Given the description of an element on the screen output the (x, y) to click on. 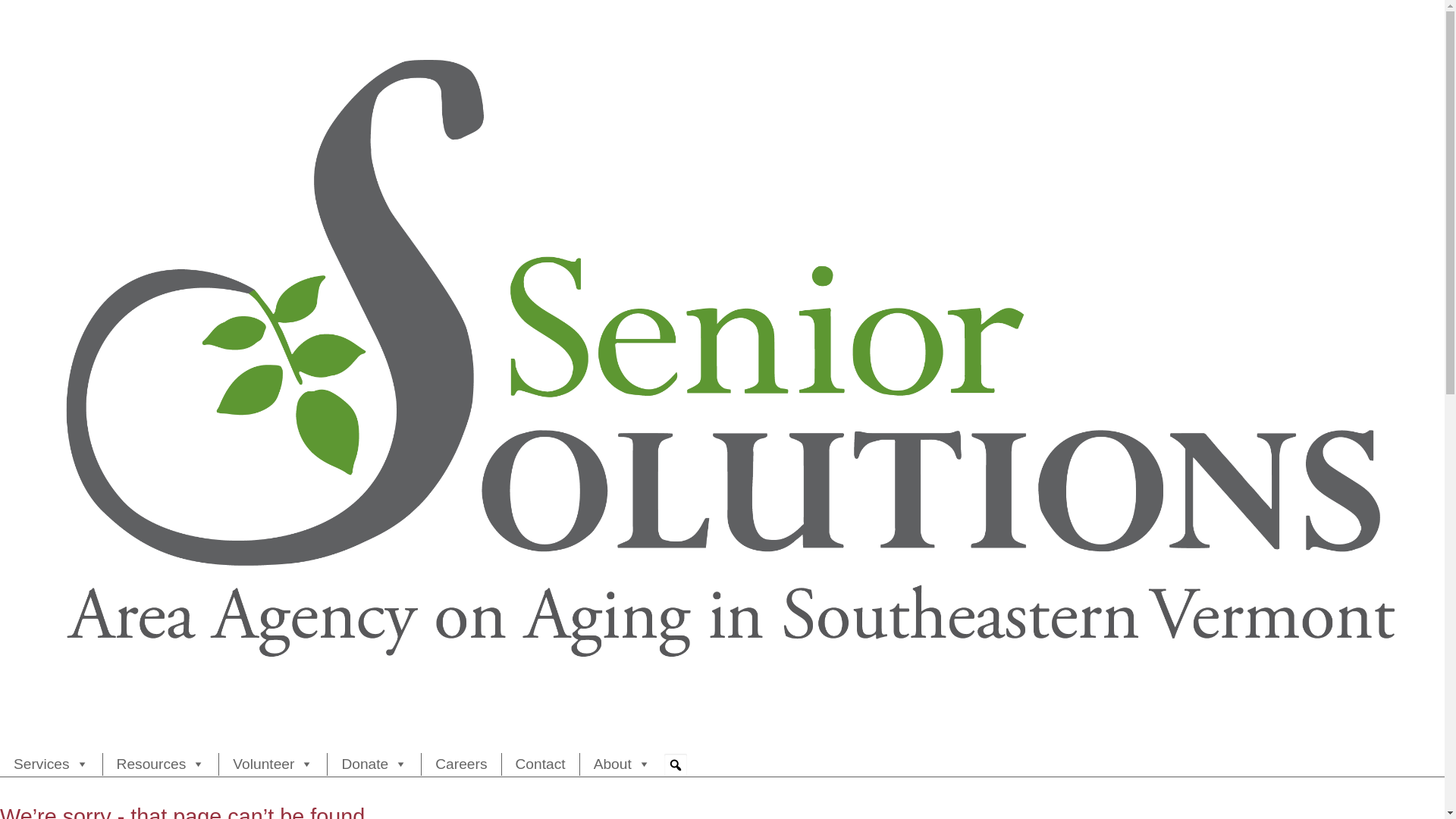
Services (50, 763)
Contact (540, 763)
About (621, 763)
Donate (373, 763)
Resources (161, 763)
Volunteer (272, 763)
Careers (461, 763)
